Given the description of an element on the screen output the (x, y) to click on. 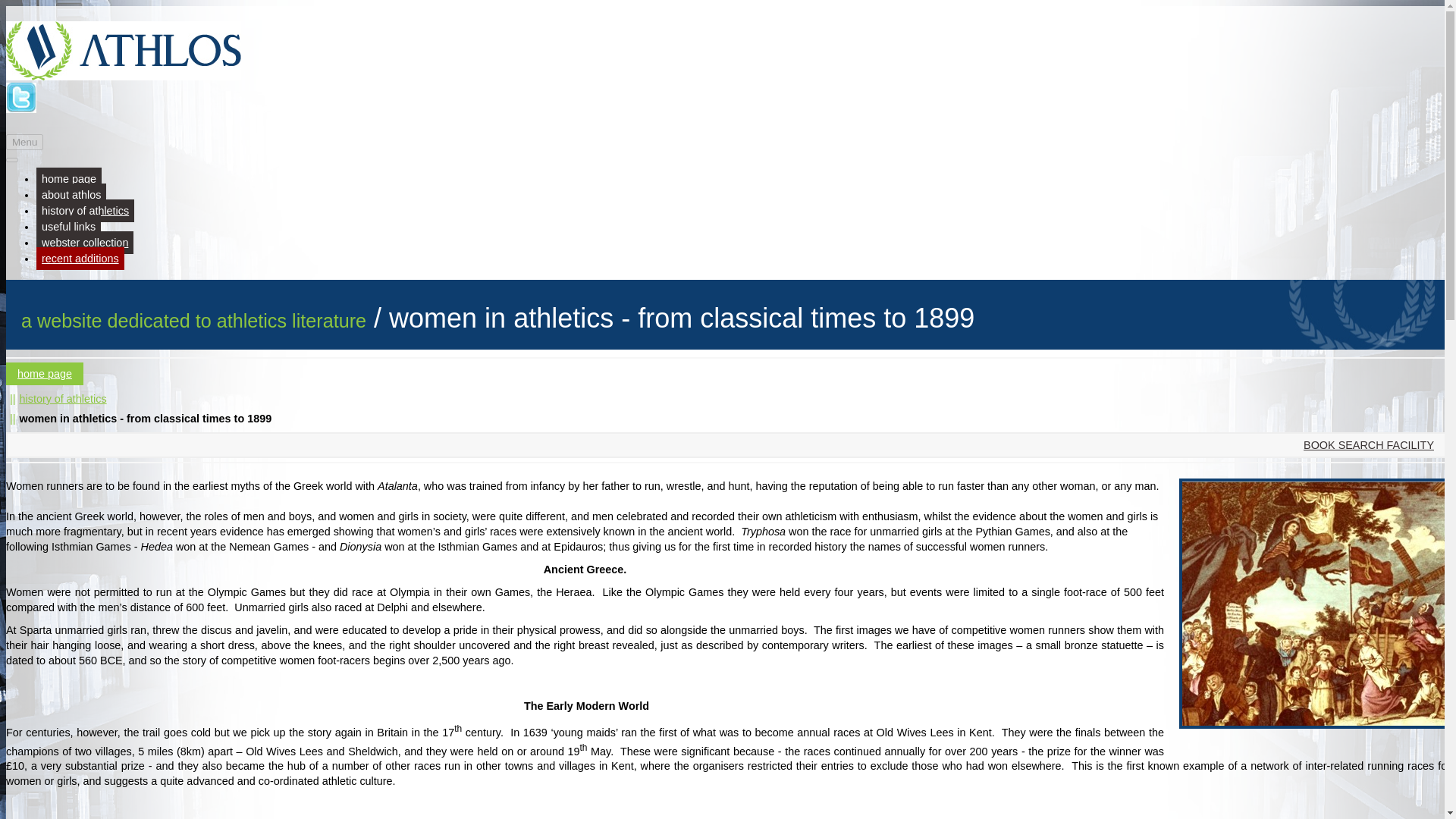
history of athletics (62, 398)
home page (68, 178)
BOOK SEARCH FACILITY (727, 444)
Menu (24, 141)
recent additions (79, 258)
home page (43, 373)
history of athletics (84, 210)
about athlos (71, 194)
useful links (68, 226)
webster collection (84, 241)
